Given the description of an element on the screen output the (x, y) to click on. 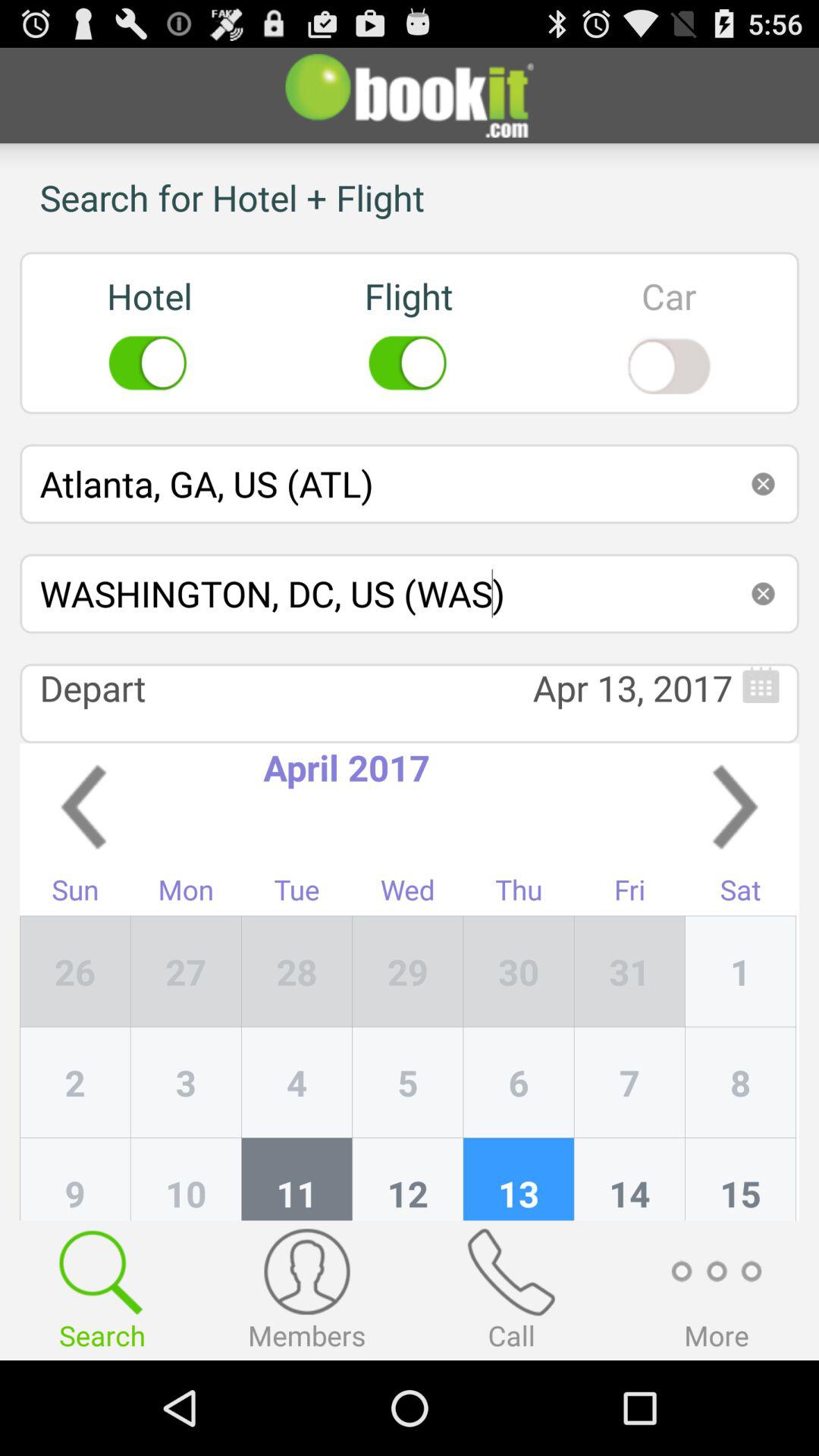
turn off item next to the sat icon (629, 971)
